Given the description of an element on the screen output the (x, y) to click on. 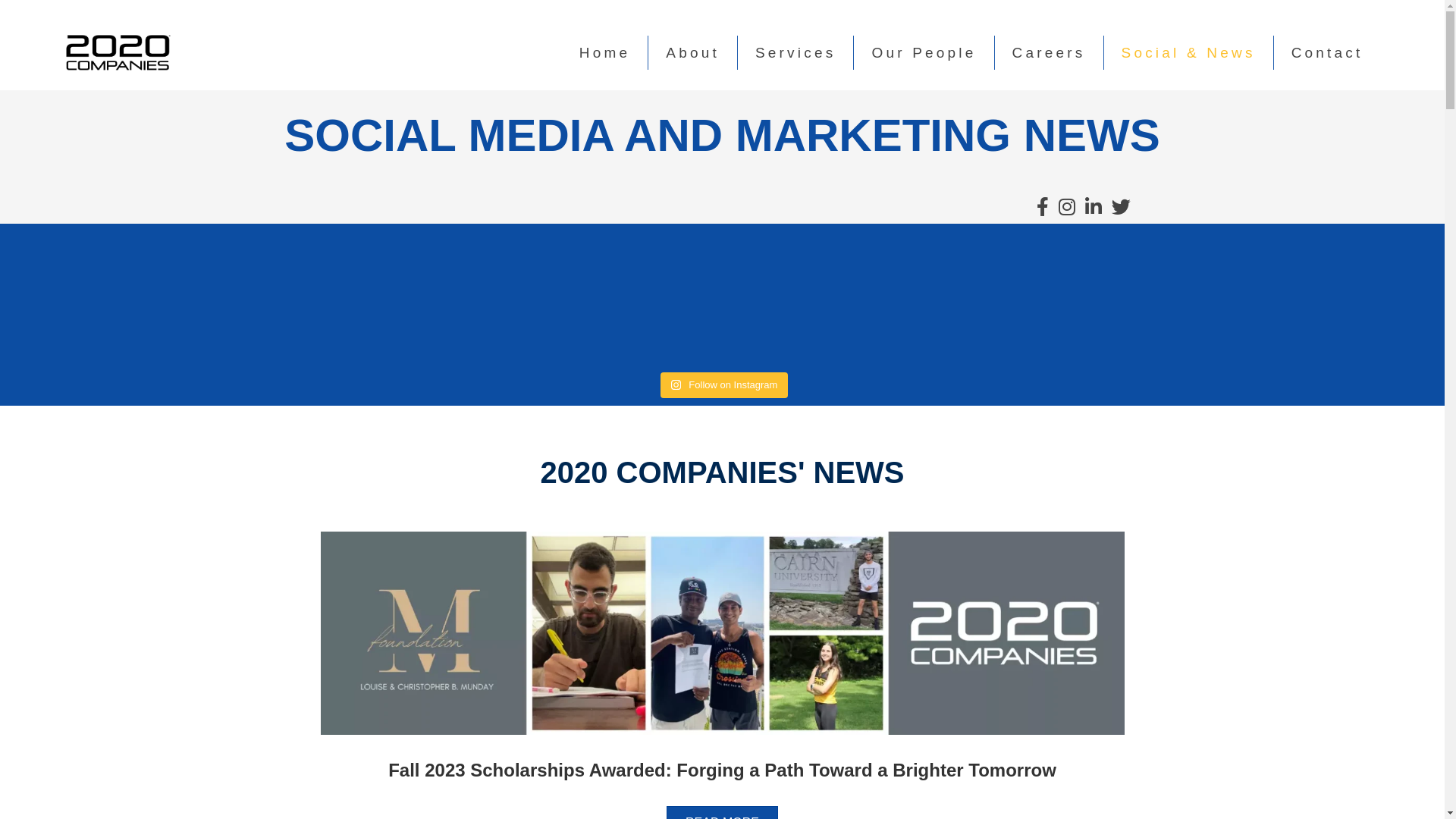
Scholarship Fall 2023 Element type: hover (721, 632)
2020-LOGO-BLACK Element type: hover (117, 52)
Careers Element type: text (1048, 52)
Home Element type: text (604, 52)
Our People Element type: text (923, 52)
Services Element type: text (795, 52)
Follow on Instagram Element type: text (724, 385)
Social & News Element type: text (1188, 52)
Contact Element type: text (1327, 52)
About Element type: text (692, 52)
